Given the description of an element on the screen output the (x, y) to click on. 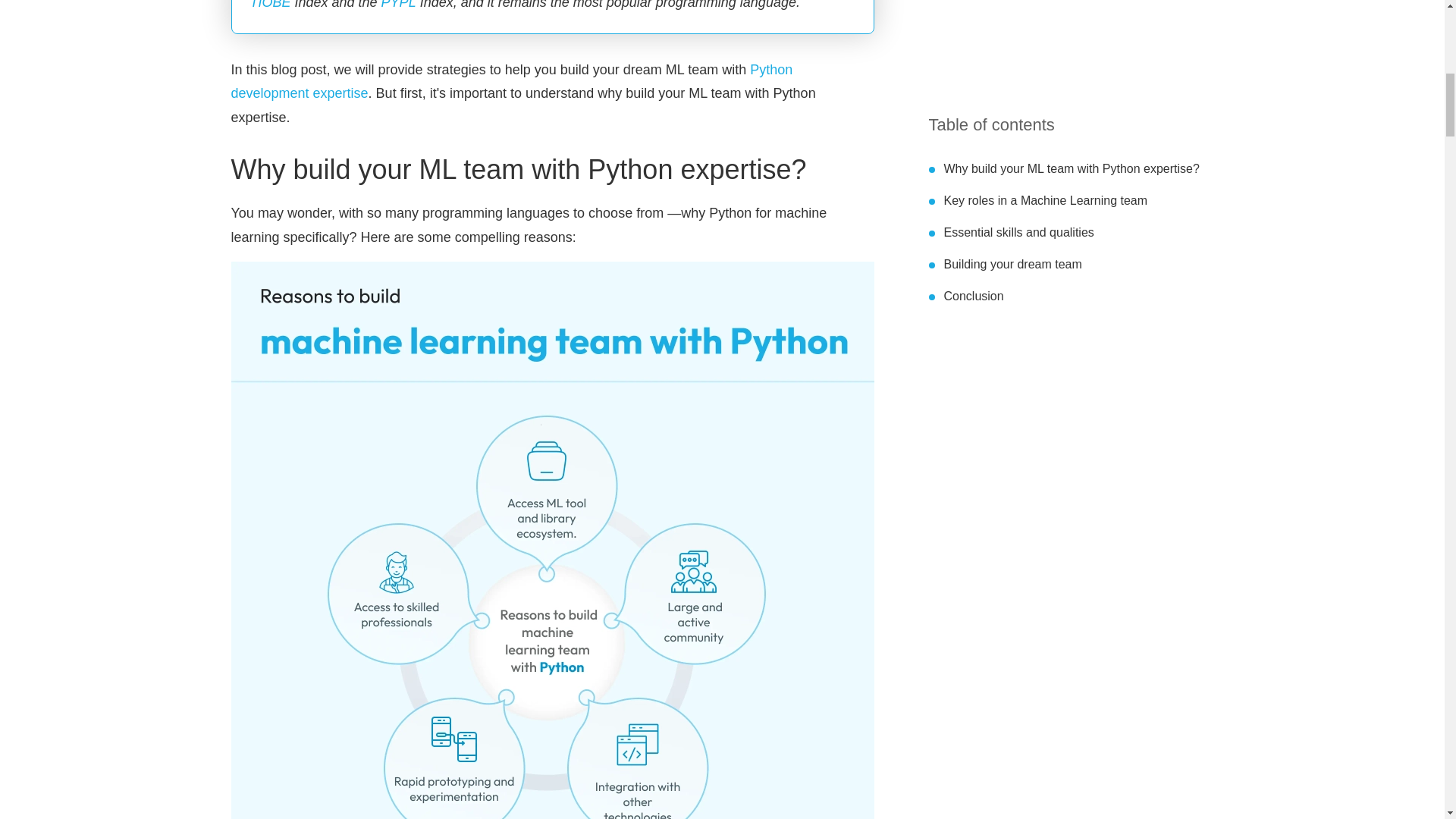
TIOBE (270, 4)
Python development expertise (511, 81)
PYPL (398, 4)
